Given the description of an element on the screen output the (x, y) to click on. 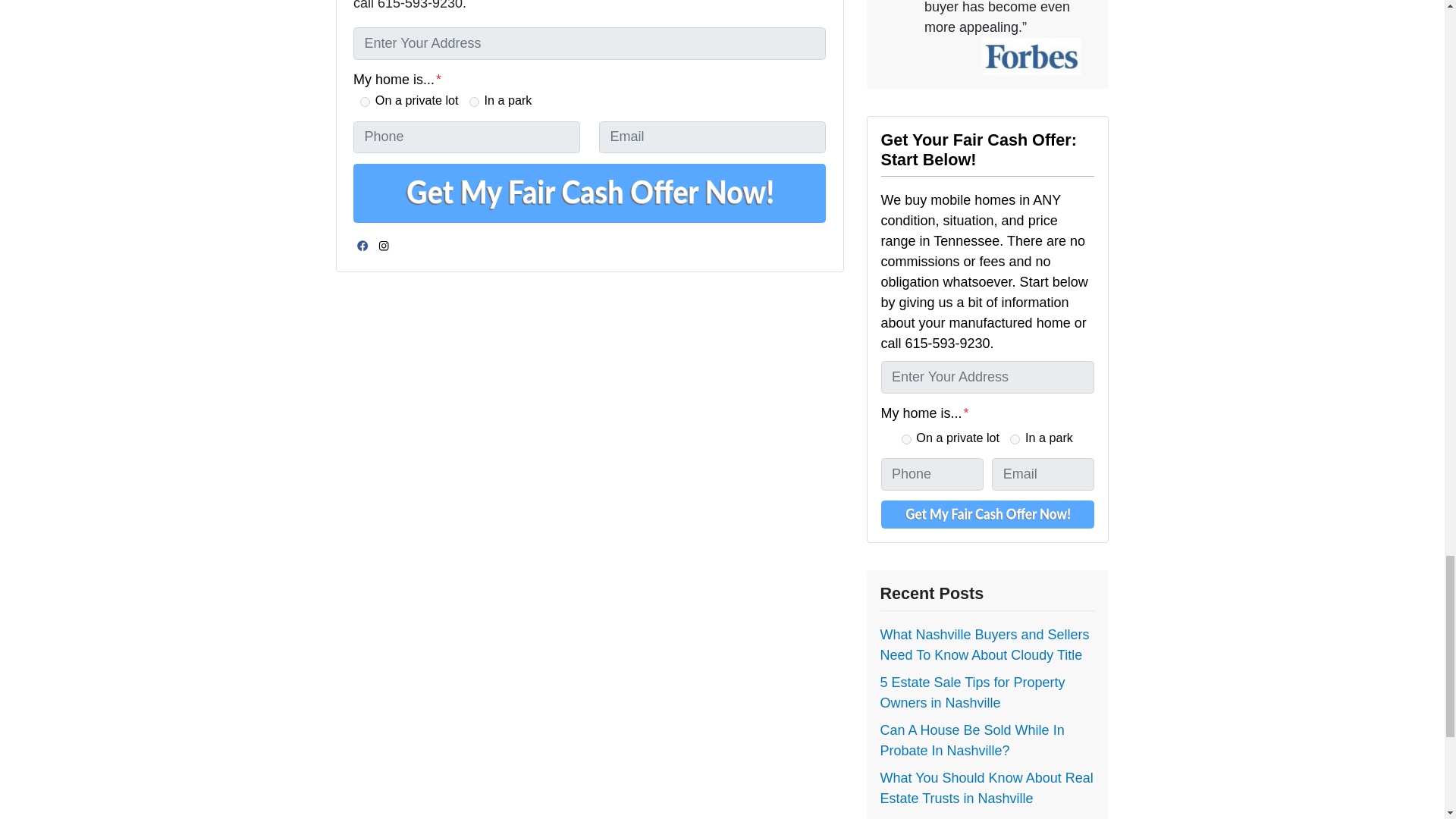
Instagram (383, 245)
5 Estate Sale Tips for Property Owners in Nashville (971, 692)
Can A House Be Sold While In Probate In Nashville? (971, 740)
On a private lot (906, 439)
In a park (1015, 439)
On a private lot (364, 102)
In a park (473, 102)
Facebook (362, 245)
What You Should Know About Real Estate Trusts in Nashville (986, 787)
